Given the description of an element on the screen output the (x, y) to click on. 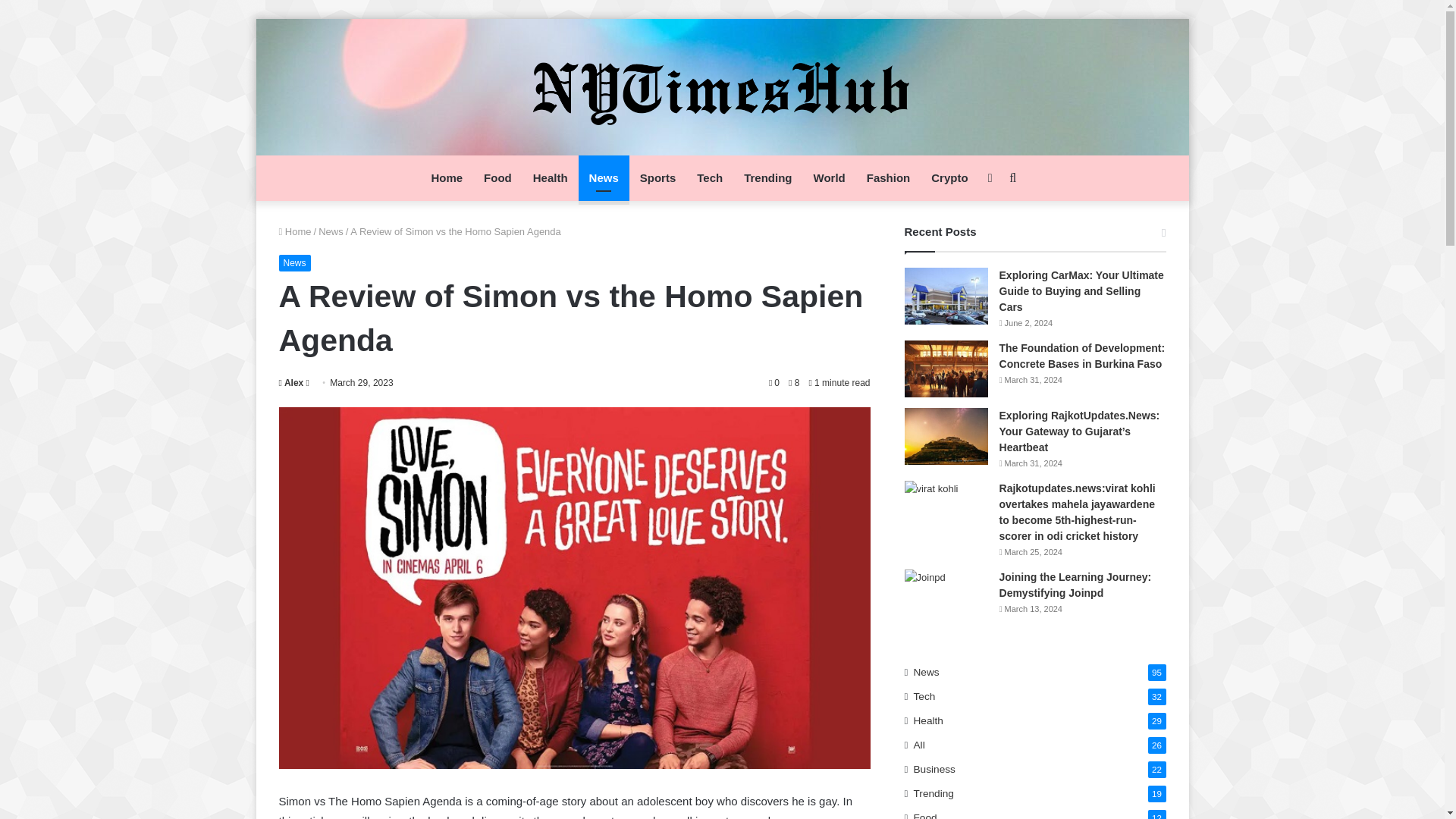
News (603, 177)
Fashion (888, 177)
Alex (291, 382)
Food (497, 177)
Crypto (949, 177)
Home (295, 231)
World (829, 177)
Home (446, 177)
News (330, 231)
Alex (291, 382)
Sports (657, 177)
NyTimesHub (722, 87)
Health (550, 177)
News (295, 262)
Trending (767, 177)
